Given the description of an element on the screen output the (x, y) to click on. 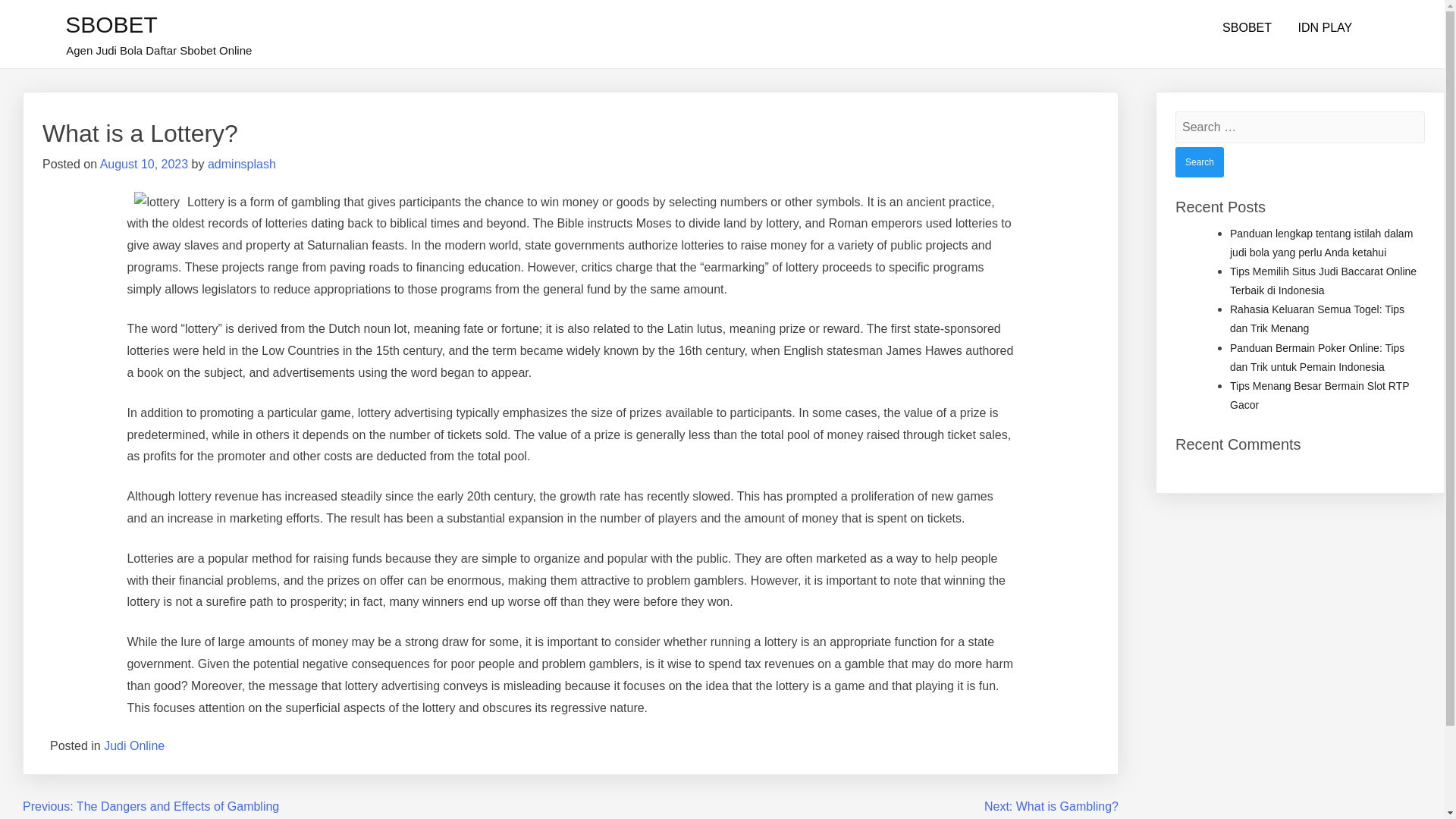
Tips Memilih Situs Judi Baccarat Online Terbaik di Indonesia (1323, 280)
Search (1199, 162)
Previous: The Dangers and Effects of Gambling (151, 806)
Judi Online (133, 745)
Search (1199, 162)
Rahasia Keluaran Semua Togel: Tips dan Trik Menang (1317, 318)
August 10, 2023 (144, 164)
Search (1199, 162)
Next: What is Gambling? (1051, 806)
SBOBET (111, 24)
SBOBET (1246, 28)
adminsplash (242, 164)
IDN PLAY (1323, 28)
